Given the description of an element on the screen output the (x, y) to click on. 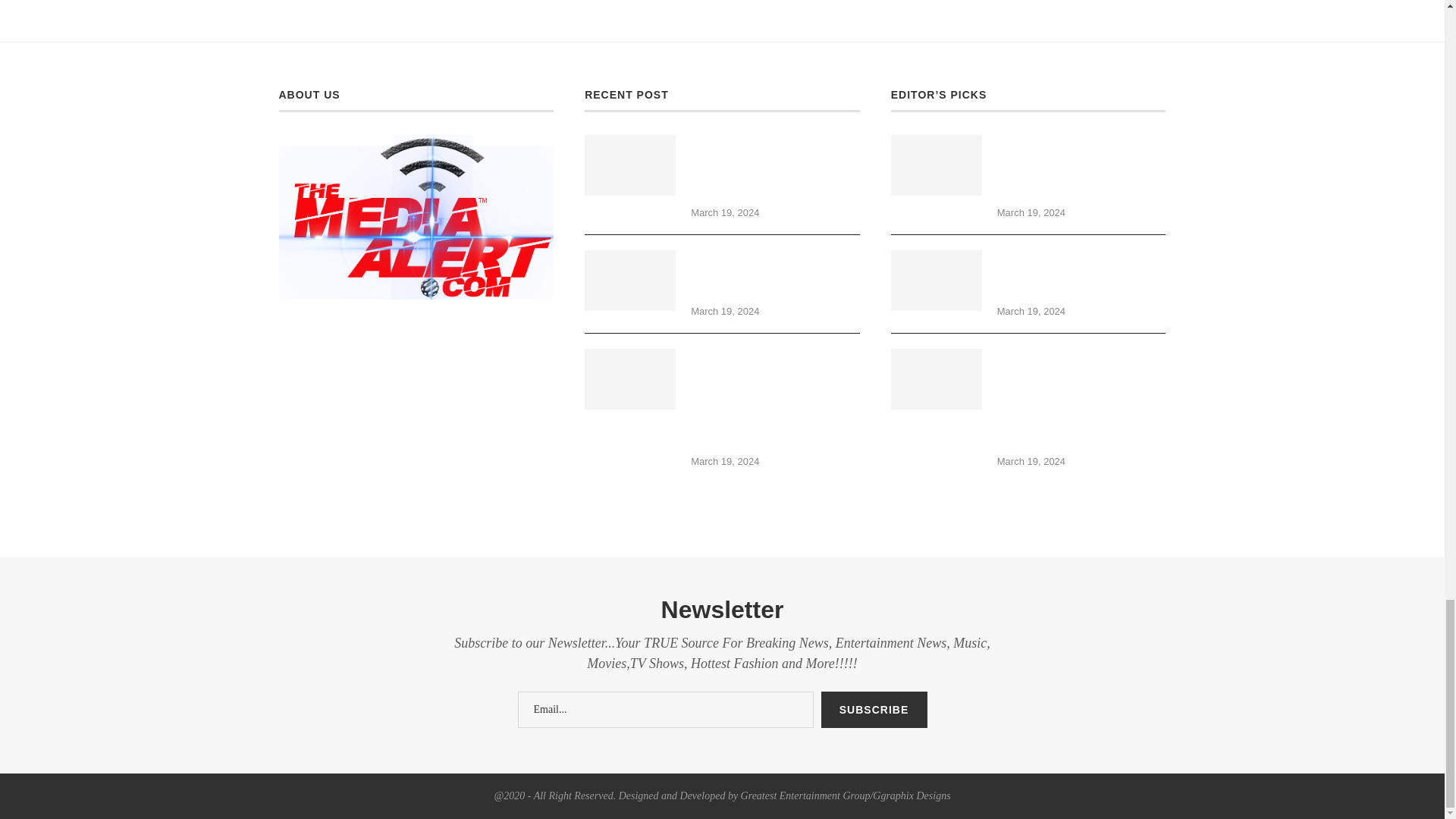
Subscribe (873, 709)
